Given the description of an element on the screen output the (x, y) to click on. 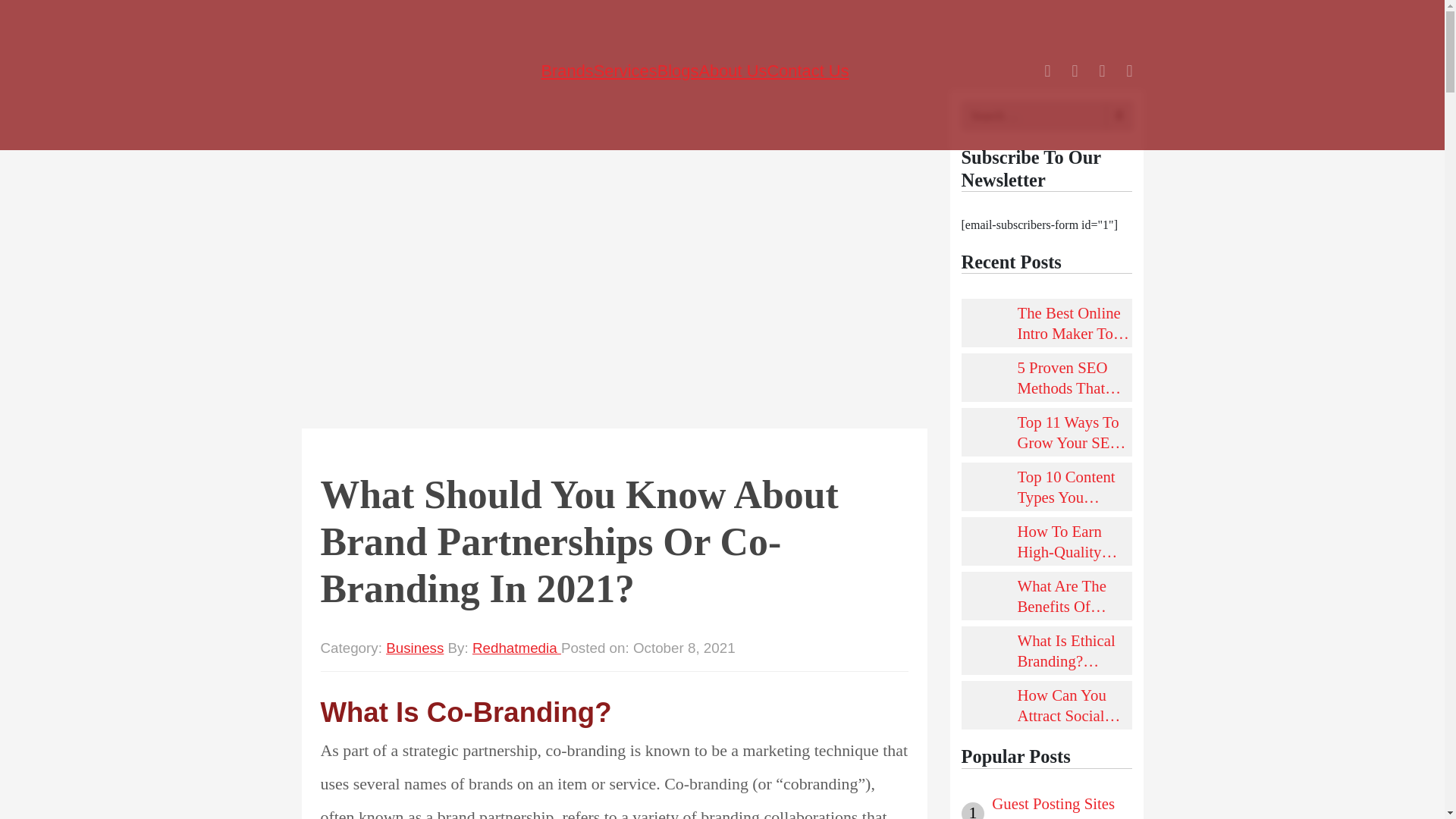
Business (414, 647)
About Us (732, 70)
Services (626, 70)
The Best Online Intro Maker Tools In 2022 (1074, 322)
Blogs (678, 70)
Top 11 Ways To Grow Your SEO Rankings - Must-Read Guide! (1074, 431)
Guest Posting Sites 2022: Unique Website... (1061, 806)
5 Proven SEO Methods That Can Drive Traffic To Your Website (1074, 377)
Brands (566, 70)
